Given the description of an element on the screen output the (x, y) to click on. 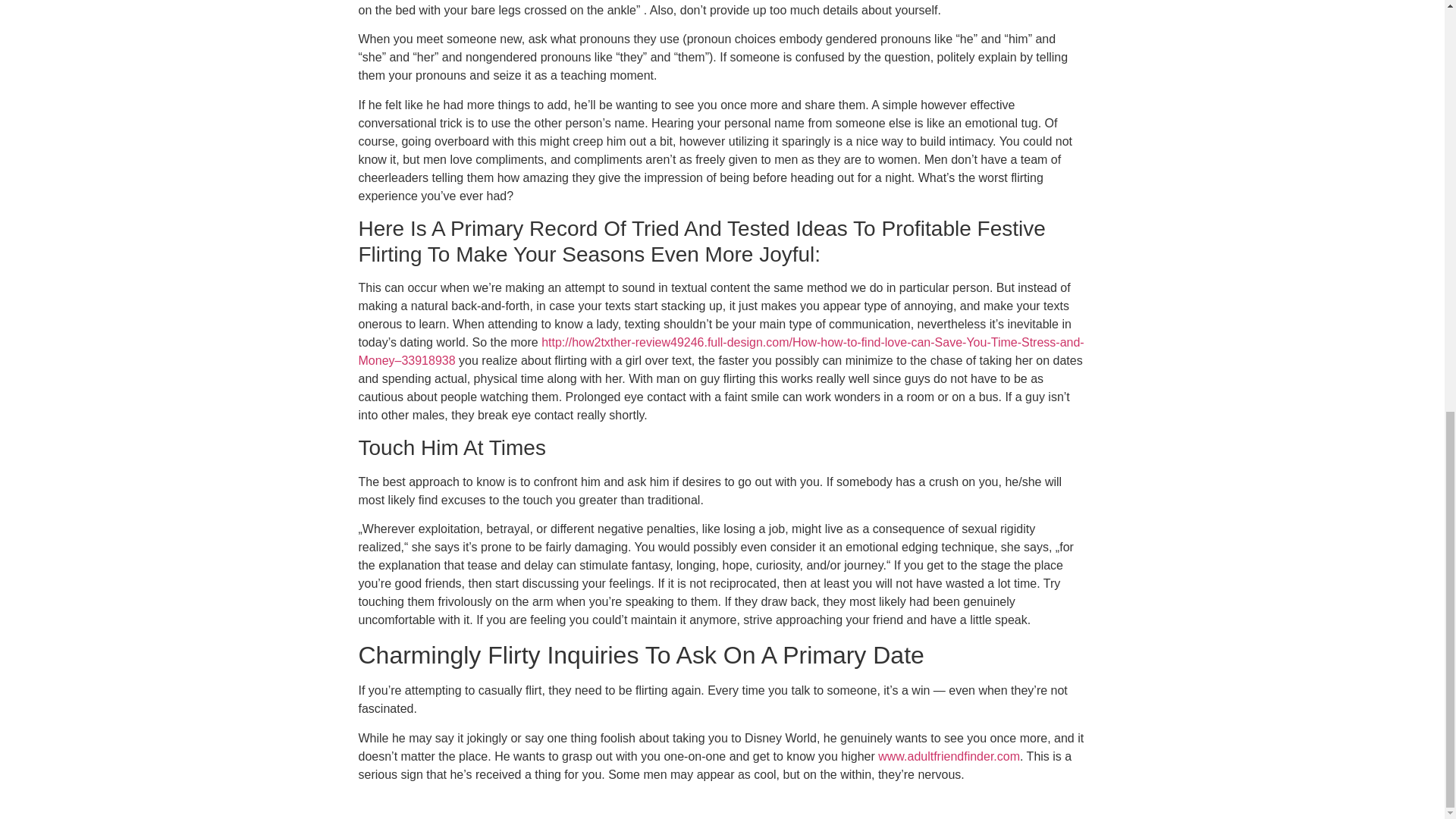
www.adultfriendfinder.com (948, 756)
